Given the description of an element on the screen output the (x, y) to click on. 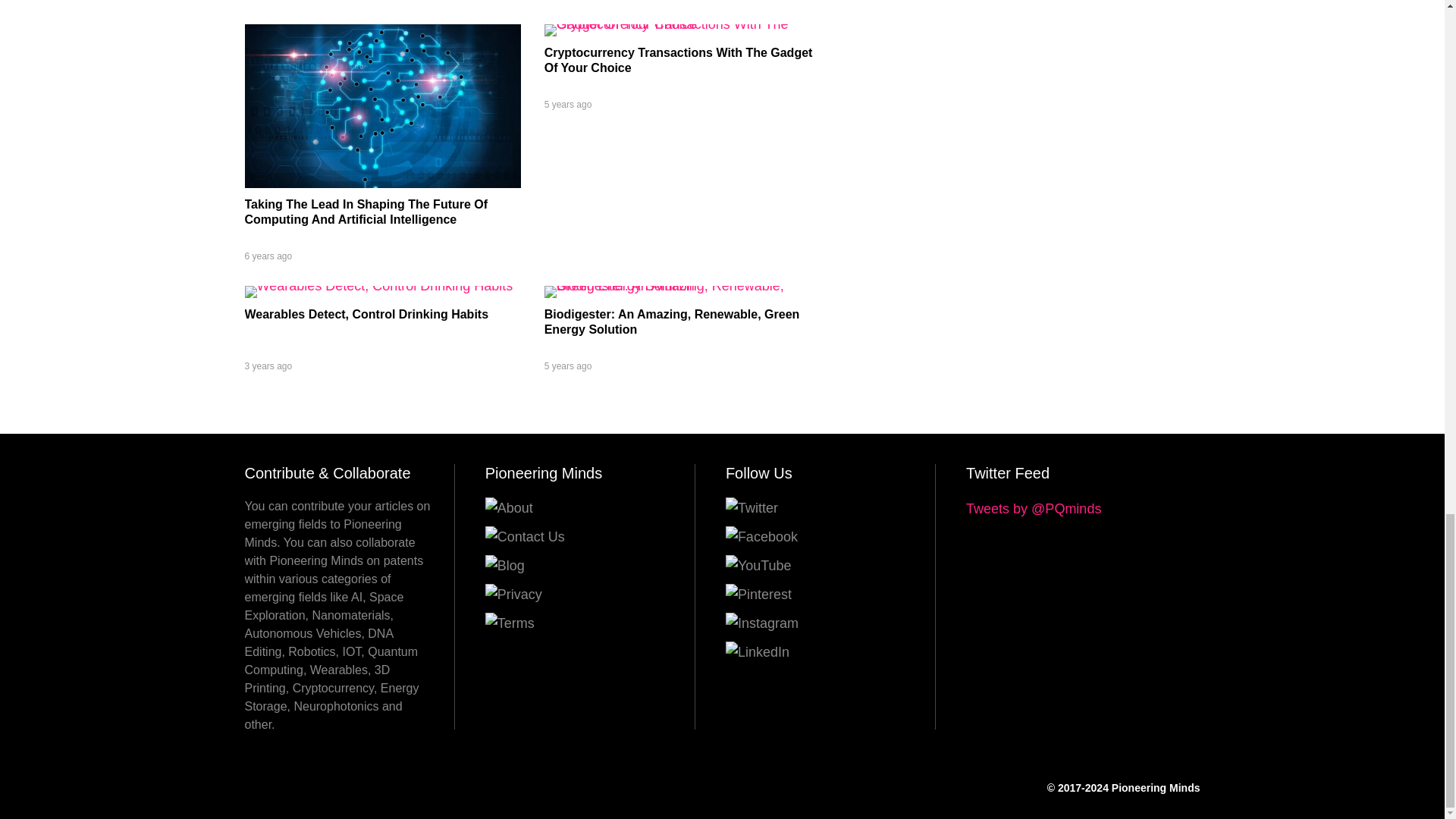
Wearables Detect, Control Drinking Habits (378, 285)
Cryptocurrency Transactions With The Gadget Of Your Choice (678, 59)
Biodigester: An Amazing, Renewable, Green Energy Solution (682, 285)
Cryptocurrency Transactions With The Gadget Of Your Choice (682, 23)
Biodigester: An Amazing, Renewable, Green Energy Solution (671, 321)
Wearables Detect, Control Drinking Habits (365, 314)
